Given the description of an element on the screen output the (x, y) to click on. 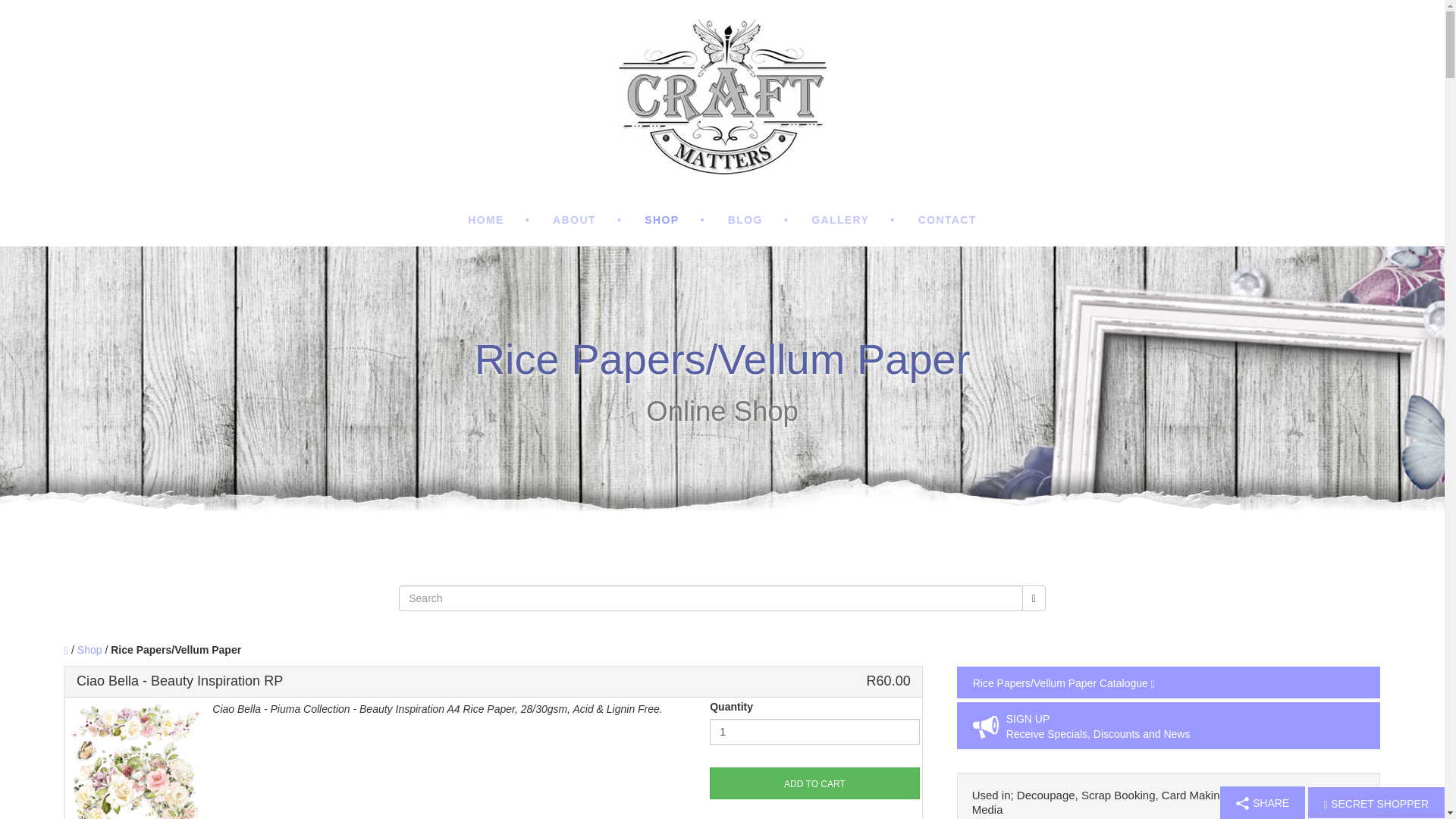
Home (499, 219)
Shop (674, 219)
HOME (499, 219)
About (587, 219)
Shop (89, 649)
Blog (757, 219)
BLOG (757, 219)
Contact (947, 219)
1 (814, 731)
ABOUT (587, 219)
